Given the description of an element on the screen output the (x, y) to click on. 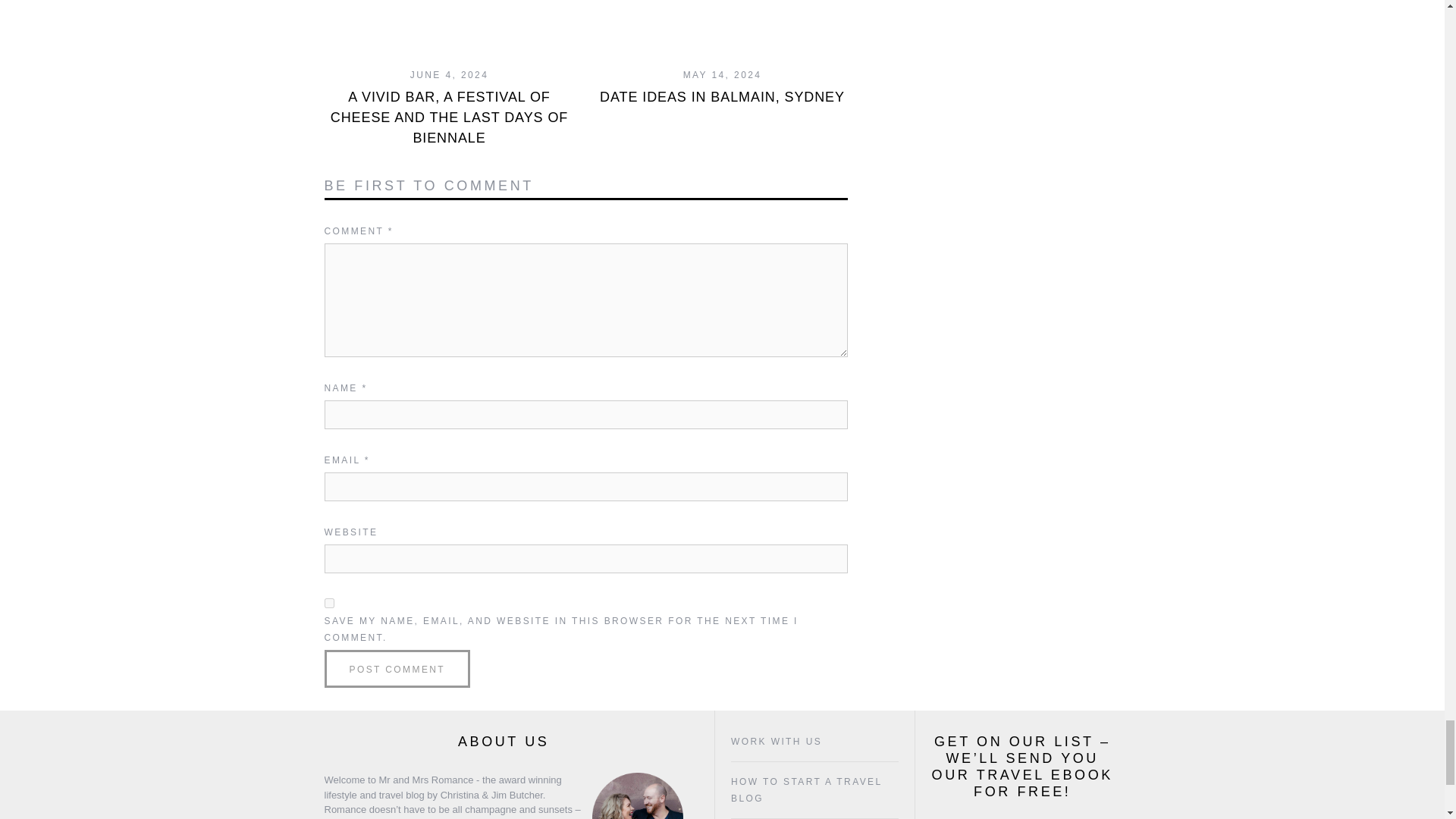
Post Comment (397, 668)
yes (329, 603)
